Given the description of an element on the screen output the (x, y) to click on. 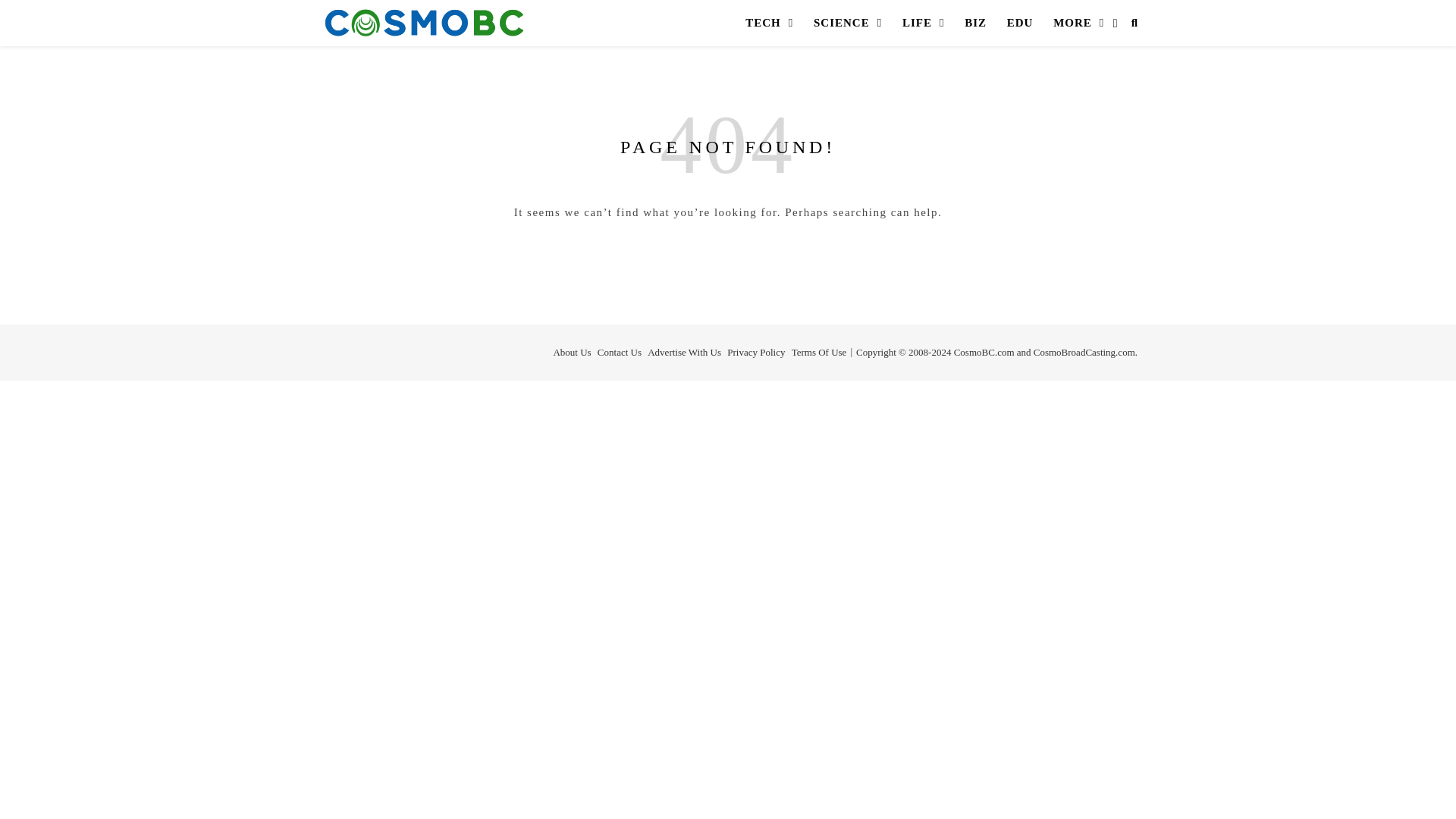
EDU (1019, 22)
MORE (1079, 22)
LIFE (923, 22)
TECH (769, 22)
SCIENCE (847, 22)
CosmoBC (424, 22)
